Given the description of an element on the screen output the (x, y) to click on. 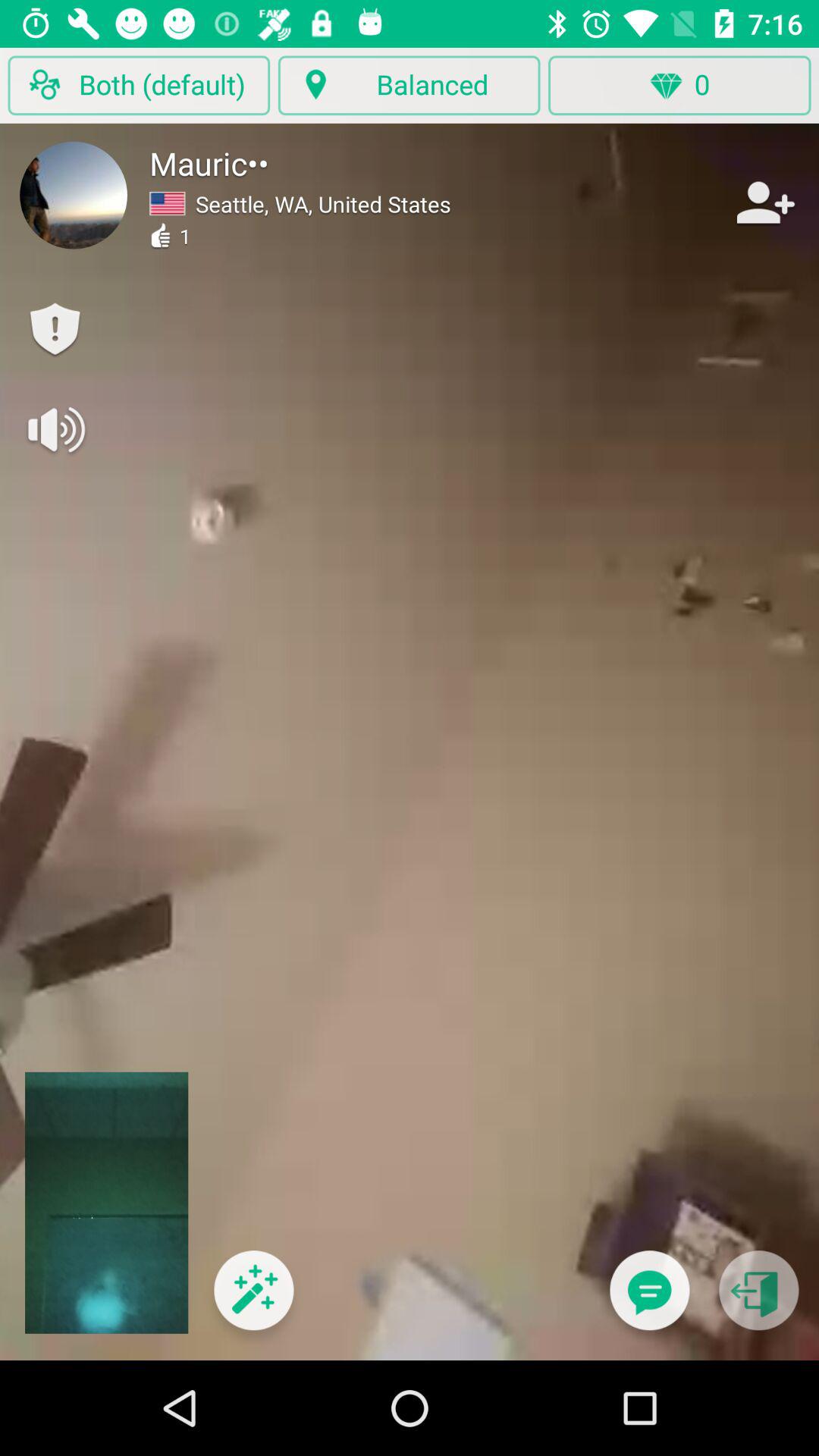
add text or message (649, 1300)
